Given the description of an element on the screen output the (x, y) to click on. 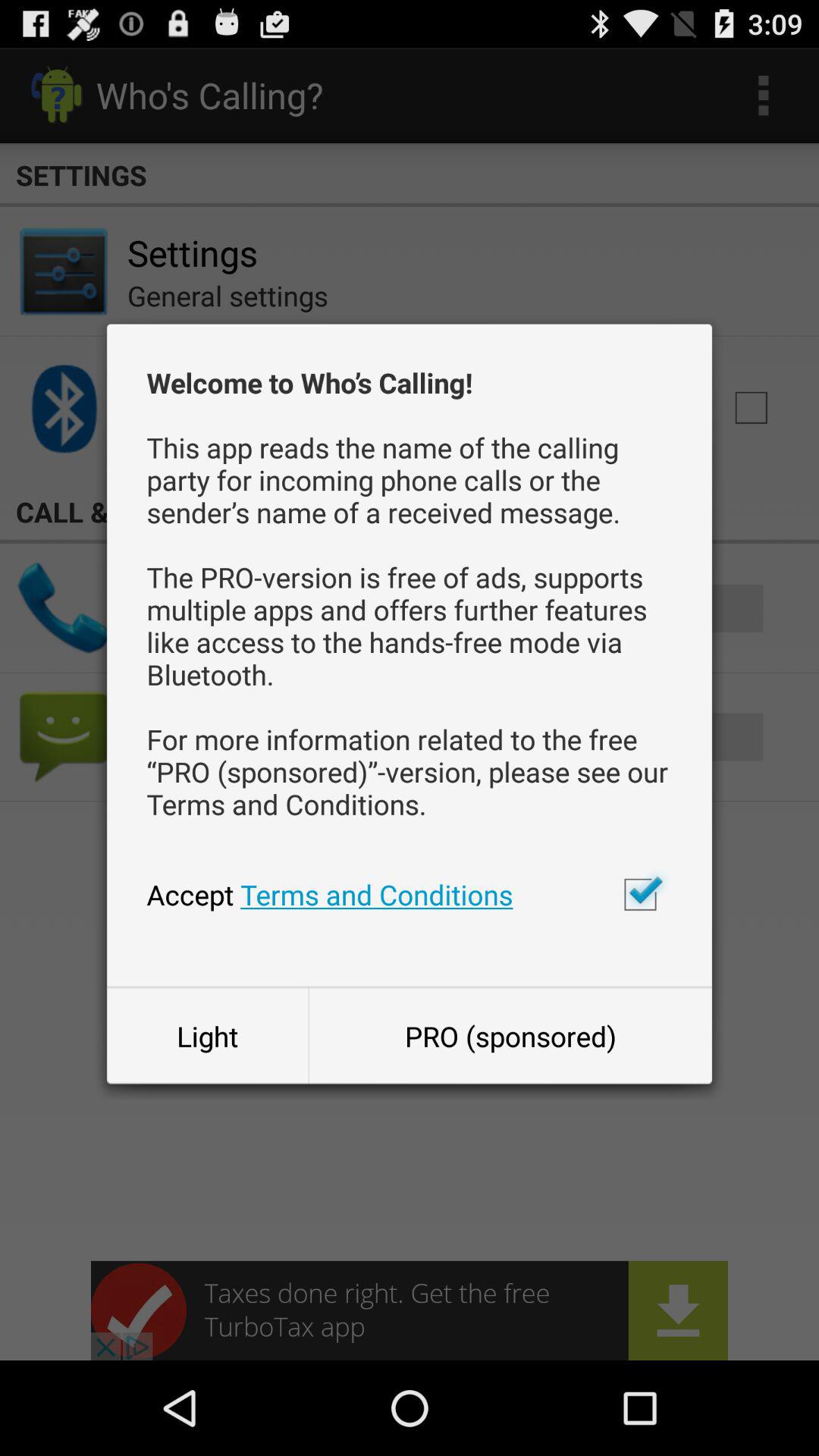
flip to light item (207, 1036)
